Given the description of an element on the screen output the (x, y) to click on. 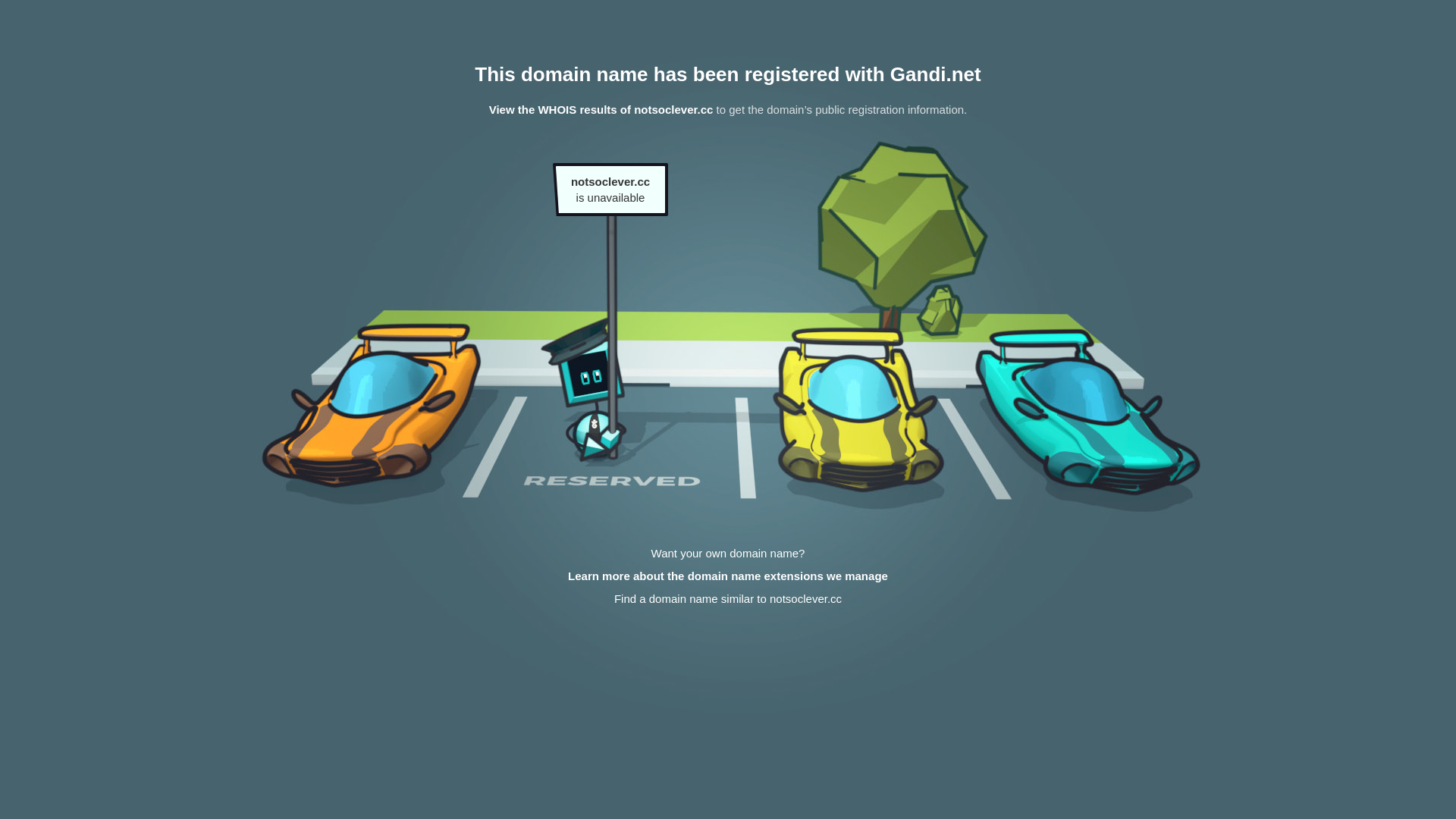
View the WHOIS results of notsoclever.cc Element type: text (601, 109)
Find a domain name similar to notsoclever.cc Element type: text (727, 598)
Learn more about the domain name extensions we manage Element type: text (727, 575)
